Given the description of an element on the screen output the (x, y) to click on. 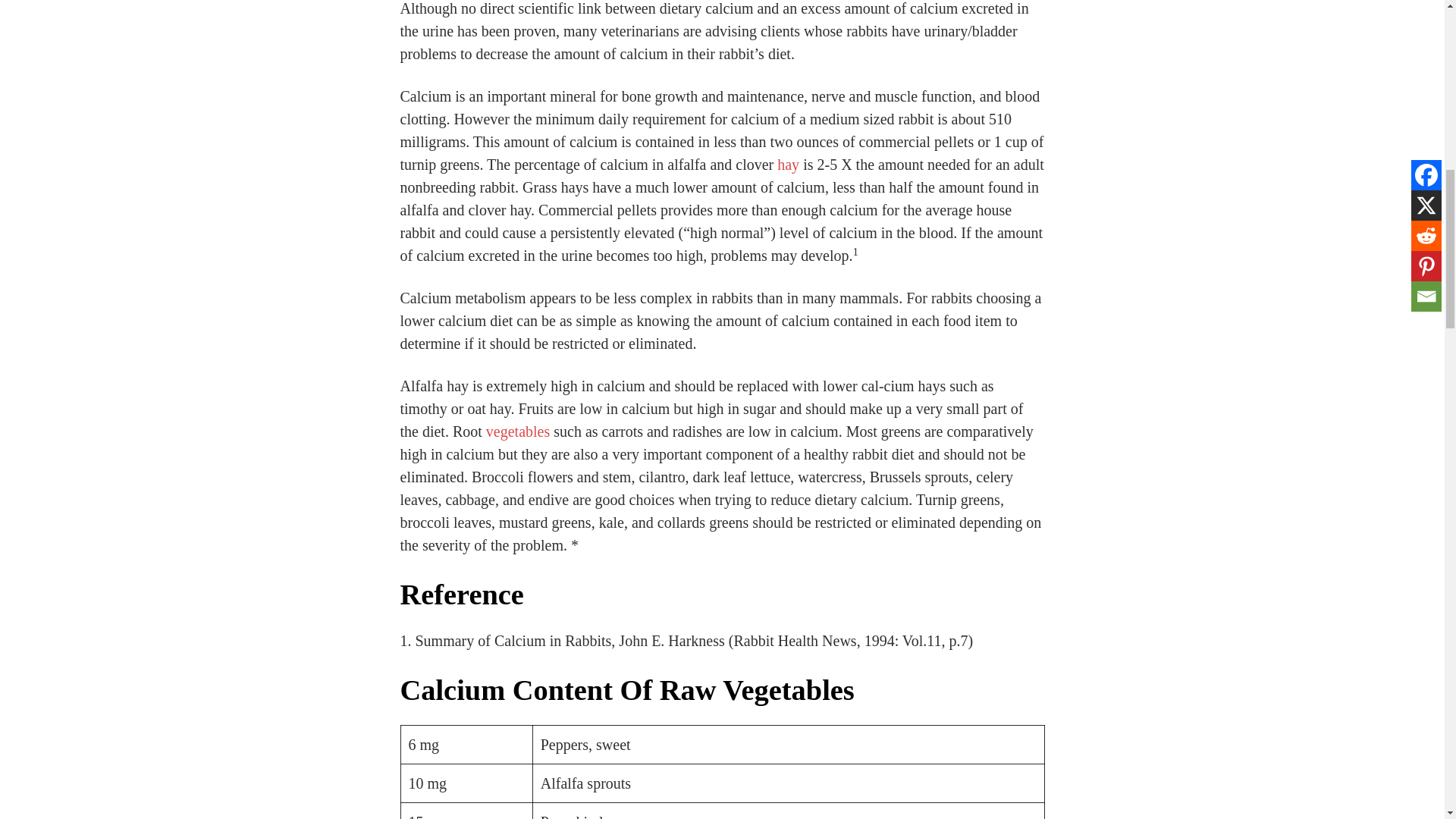
vegetables (518, 431)
hay (788, 164)
